Given the description of an element on the screen output the (x, y) to click on. 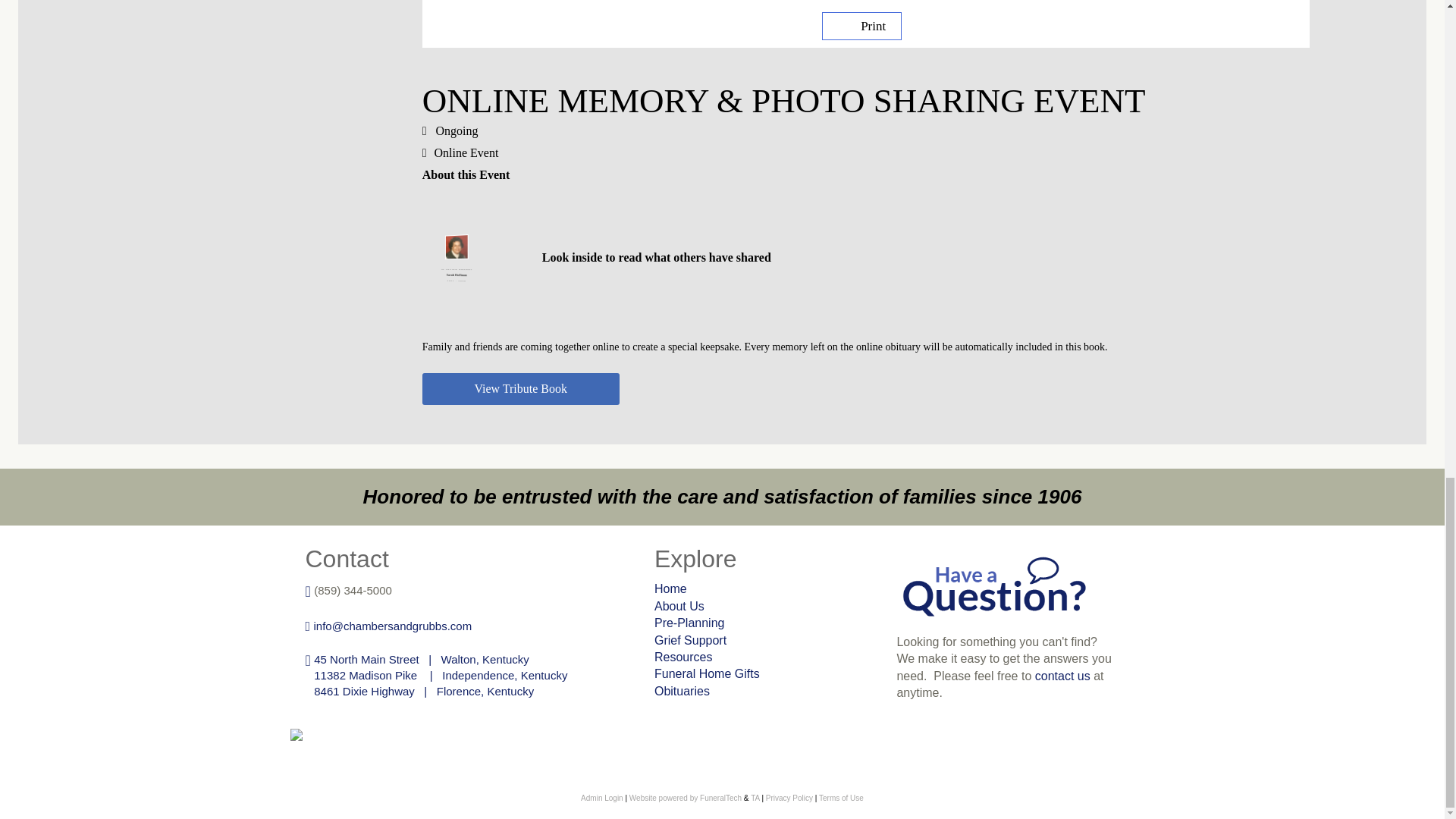
Print (861, 26)
